Given the description of an element on the screen output the (x, y) to click on. 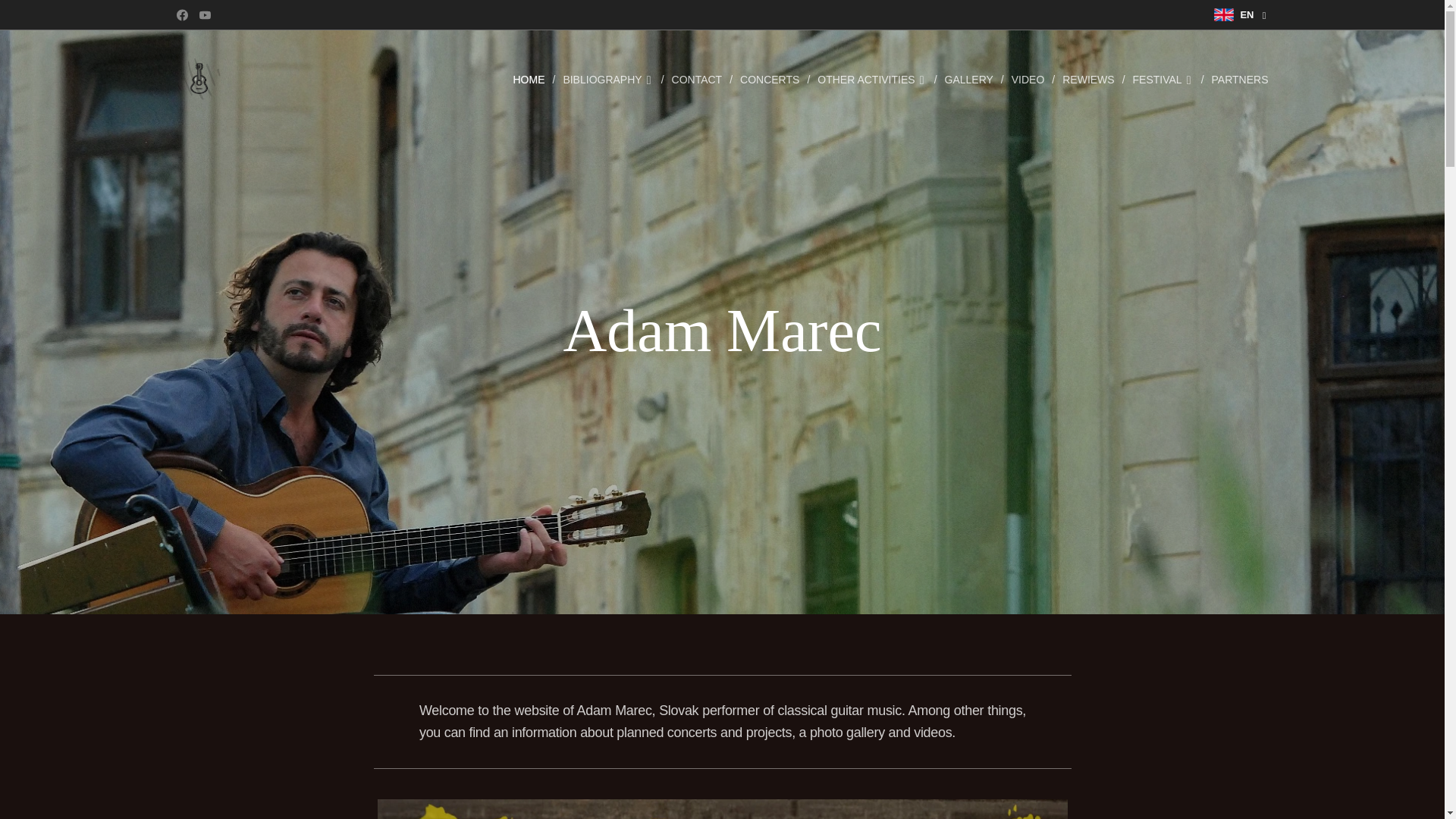
GALLERY (970, 79)
BIBLIOGRAPHY (608, 79)
CONTACT (698, 79)
CONCERTS (770, 79)
VIDEO (1029, 79)
HOME (532, 79)
PARTNERS (1236, 79)
REWIEWS (1089, 79)
FESTIVAL (1164, 79)
OTHER ACTIVITIES (872, 79)
